Given the description of an element on the screen output the (x, y) to click on. 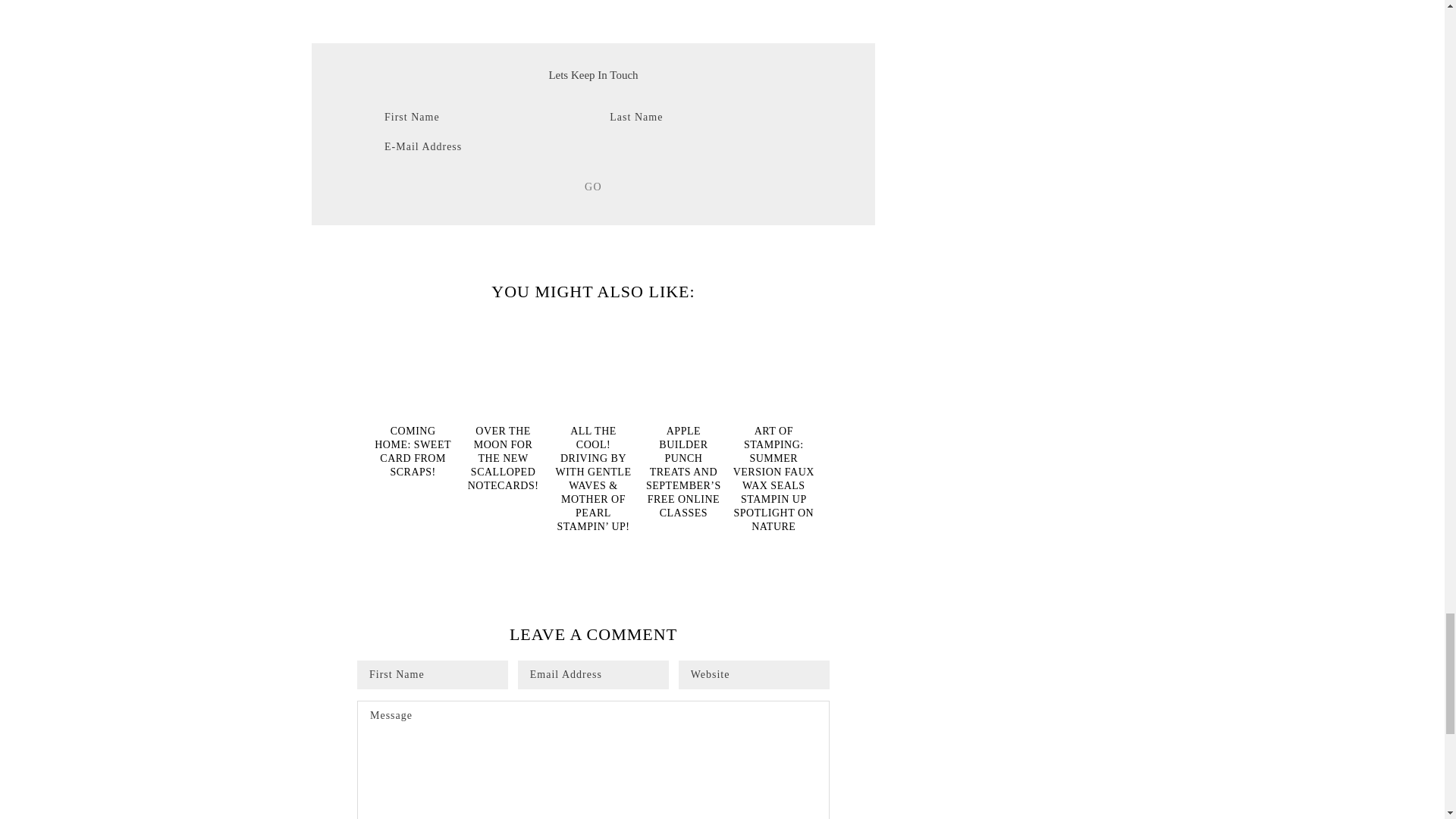
Go (592, 186)
